Given the description of an element on the screen output the (x, y) to click on. 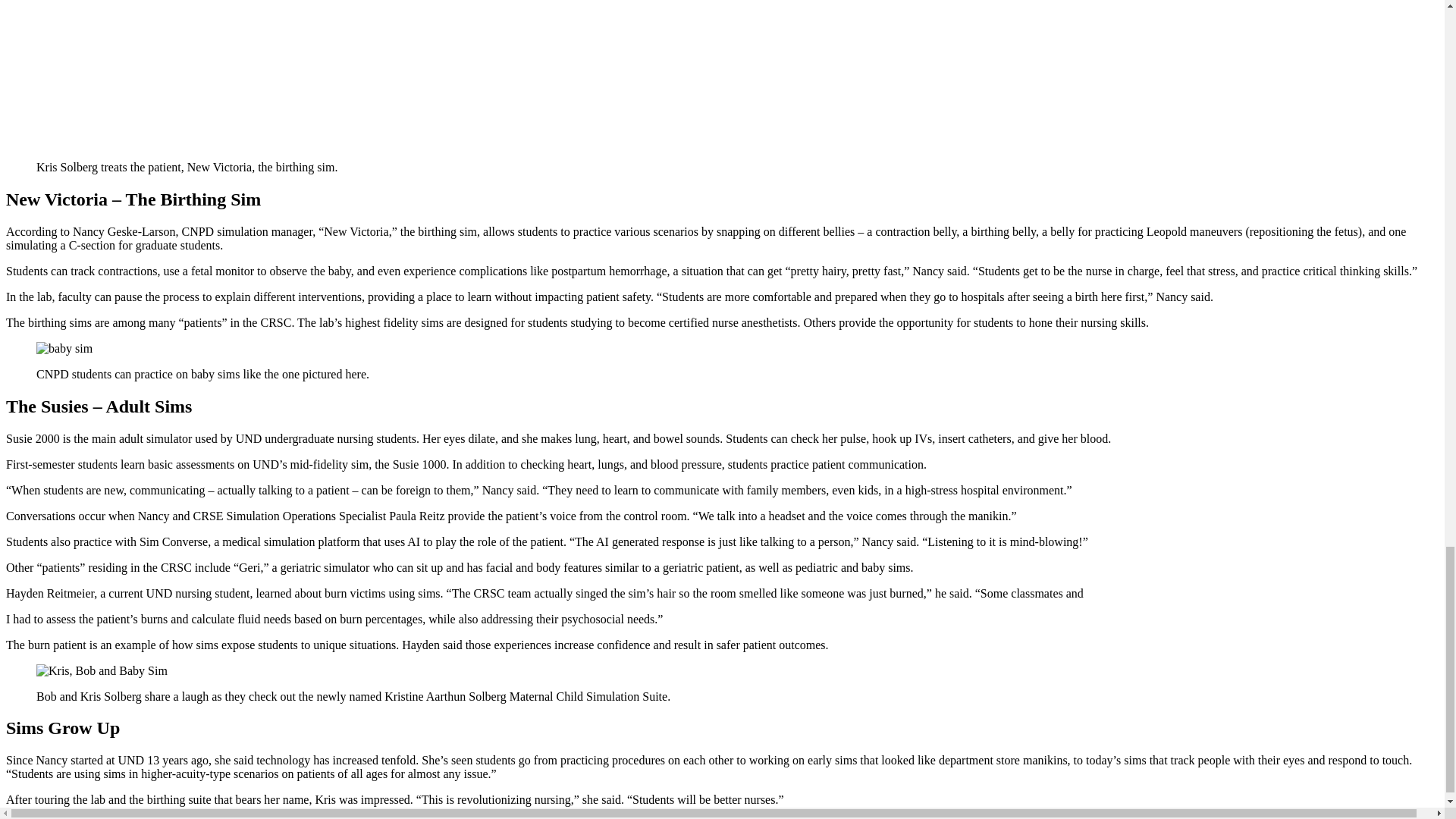
Kris, bob and baby sim (101, 670)
baby sim (64, 348)
